Given the description of an element on the screen output the (x, y) to click on. 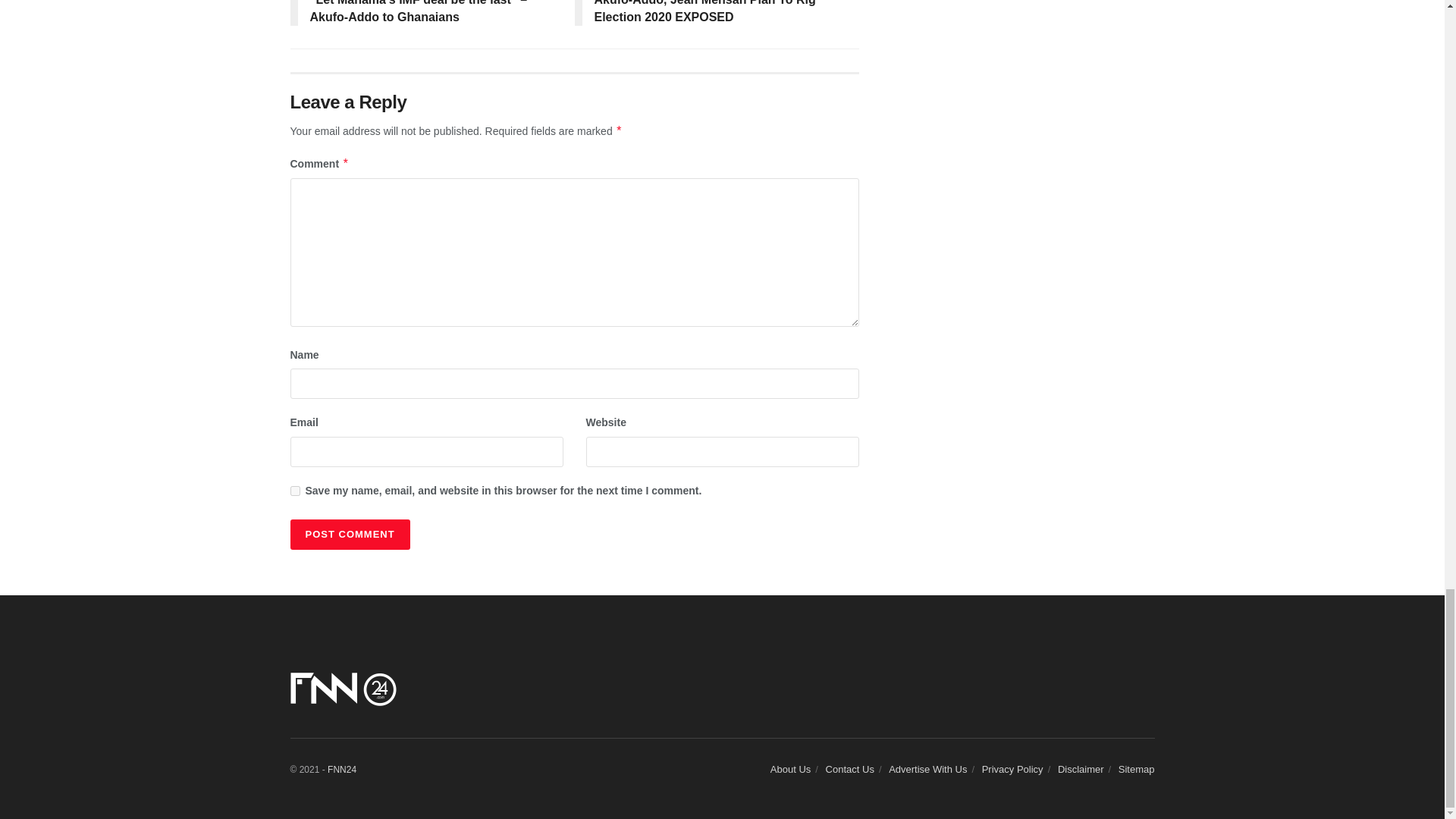
yes (294, 491)
Post Comment (349, 534)
